Given the description of an element on the screen output the (x, y) to click on. 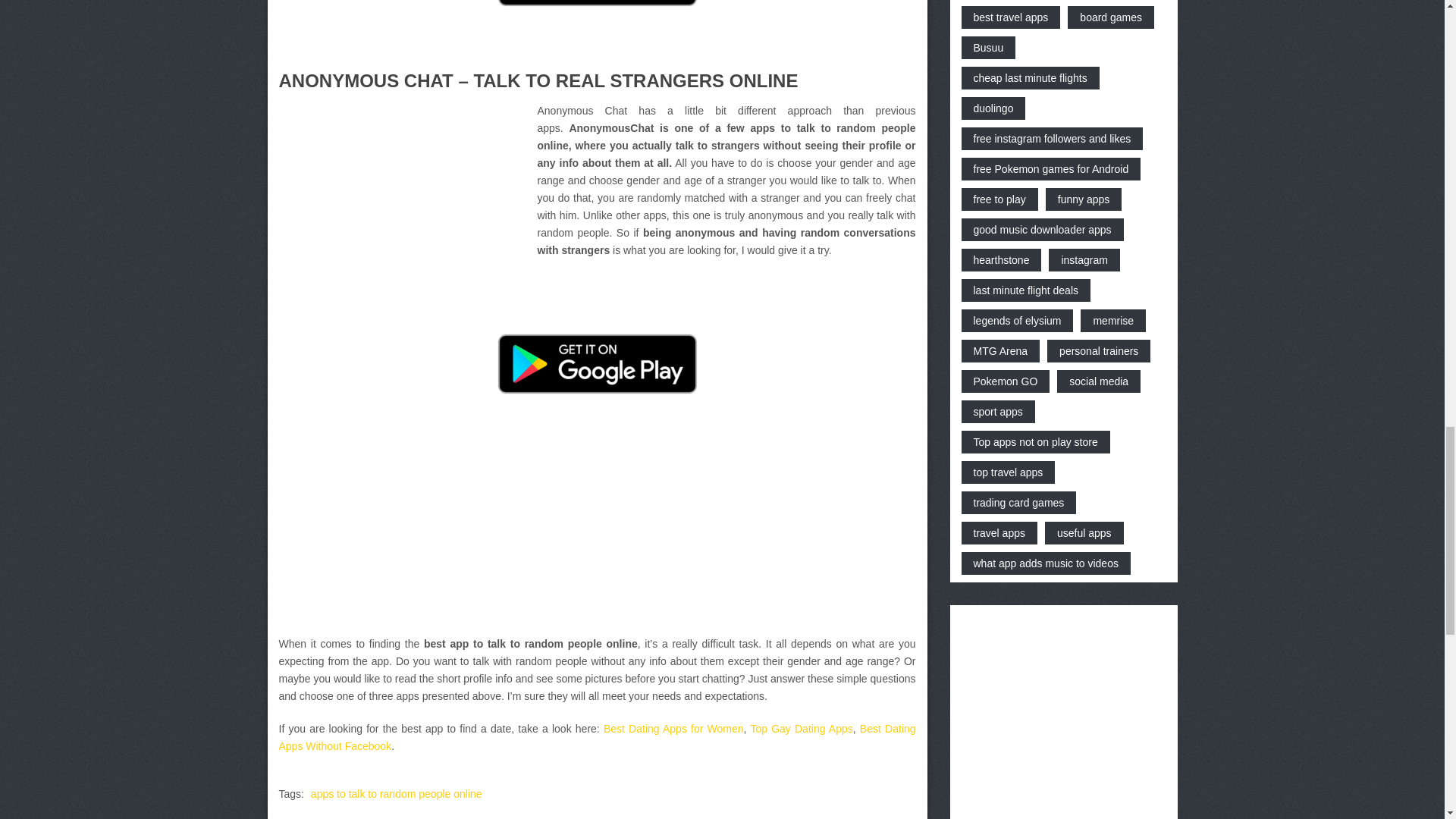
apps to talk to random people online (396, 793)
Advertisement (406, 208)
Best Dating Apps Without Facebook (597, 737)
Best Dating Apps for Women (674, 728)
Top Gay Dating Apps (800, 728)
